Given the description of an element on the screen output the (x, y) to click on. 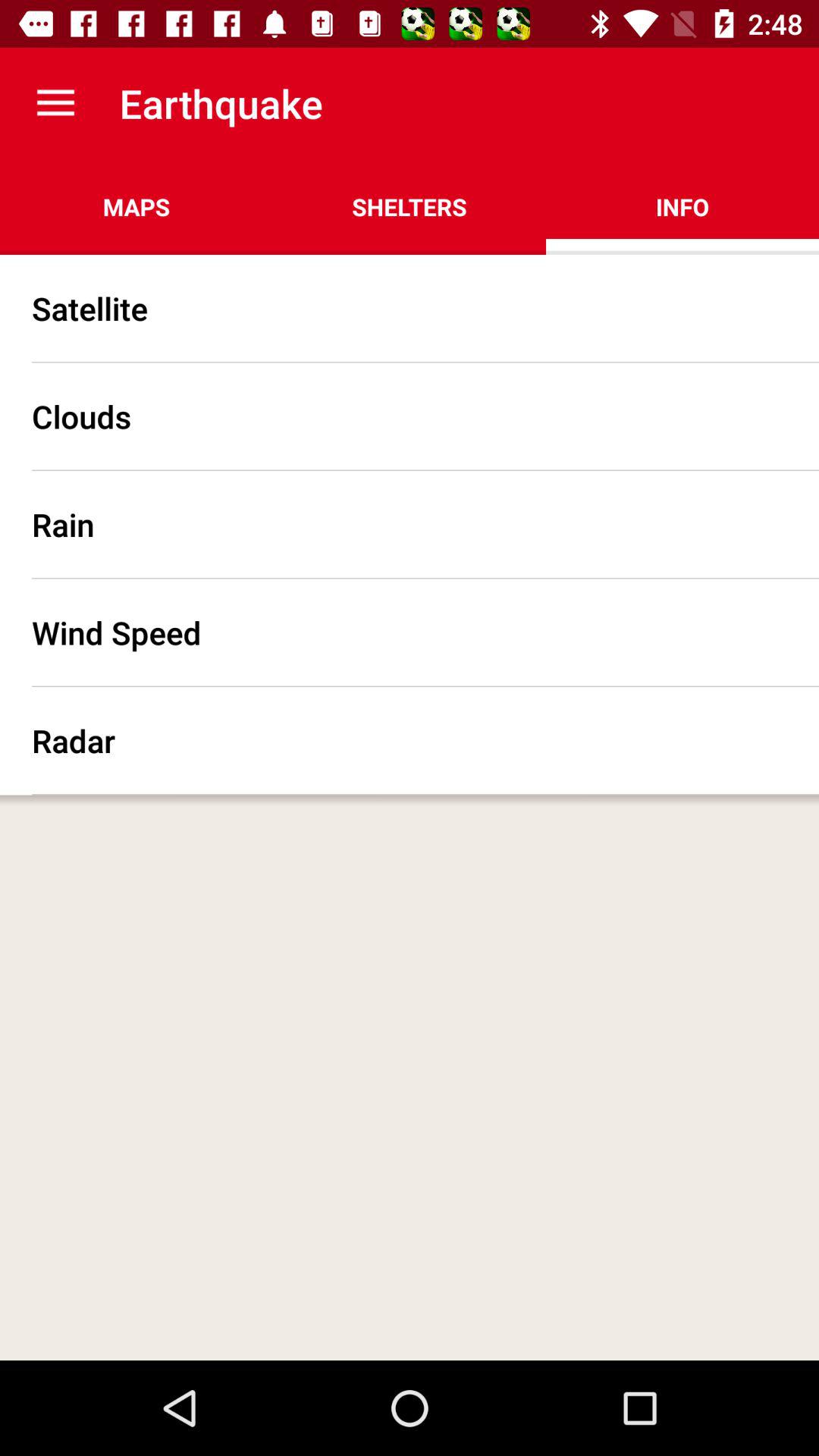
flip to info (682, 206)
